Given the description of an element on the screen output the (x, y) to click on. 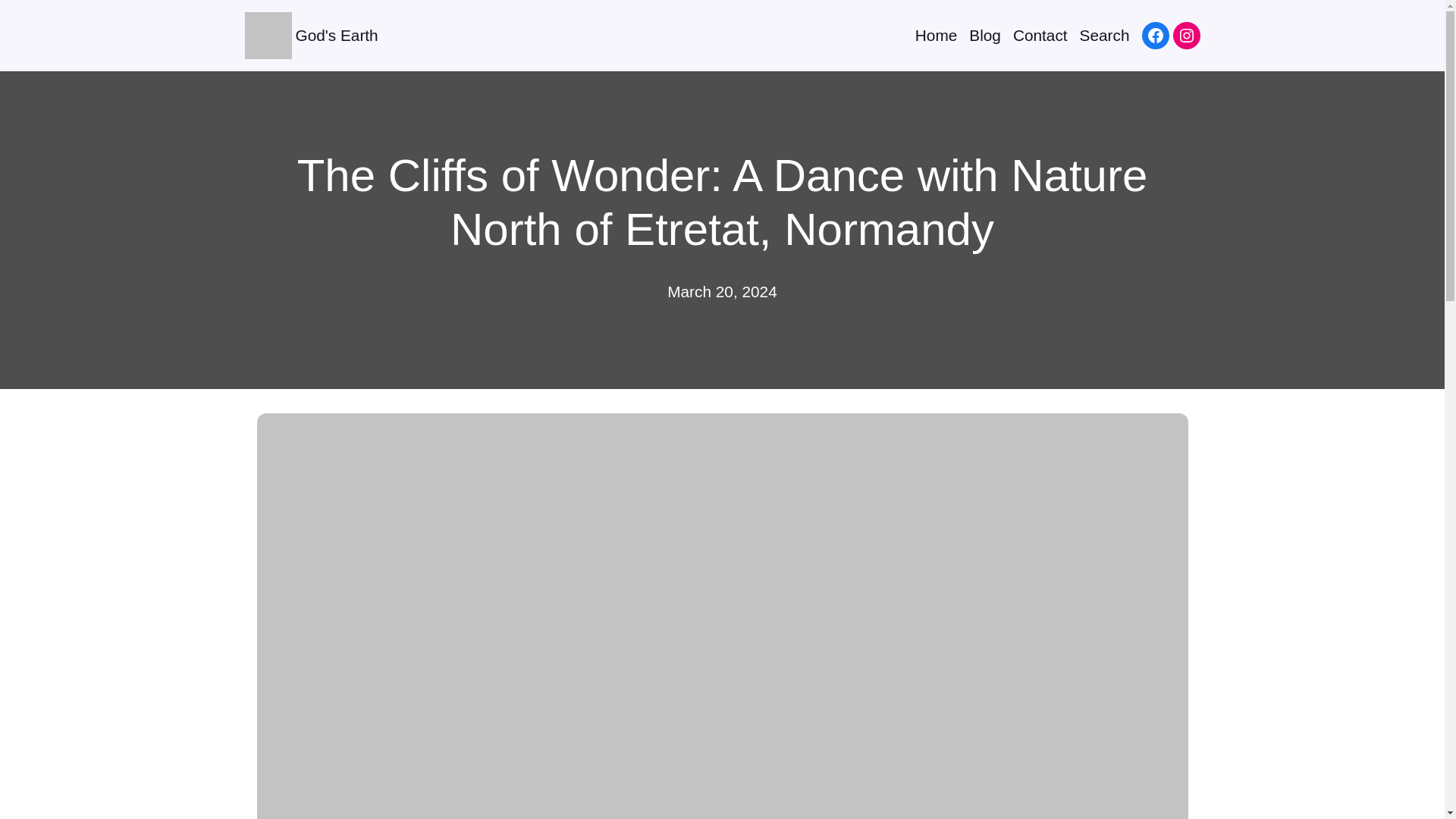
God's Earth (336, 35)
Facebook (1155, 35)
Contact (1040, 35)
Instagram (1185, 35)
Search (1104, 35)
Home (935, 35)
Blog (985, 35)
